Given the description of an element on the screen output the (x, y) to click on. 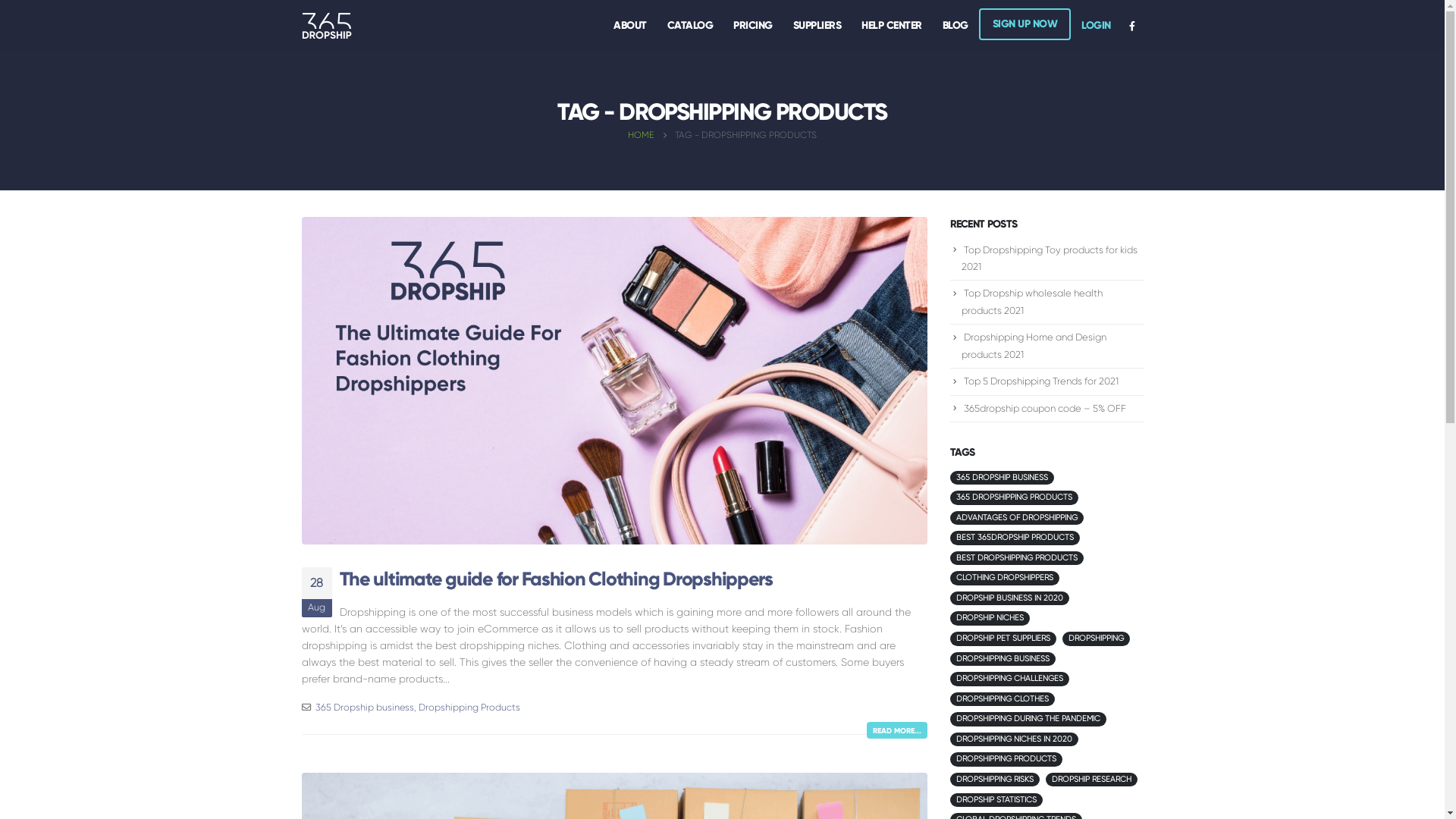
ABOUT Element type: text (629, 25)
The ultimate guide for Fashion Clothing Dropshippers Element type: text (555, 578)
DROPSHIPPING DURING THE PANDEMIC Element type: text (1027, 719)
DROPSHIP NICHES Element type: text (989, 618)
Top Dropship wholesale health products 2021 Element type: text (1031, 301)
Dropshipping Home and Design products 2021 Element type: text (1033, 345)
DROPSHIP RESEARCH Element type: text (1091, 779)
BLOG Element type: text (955, 25)
DROPSHIPPING NICHES IN 2020 Element type: text (1013, 739)
ADVANTAGES OF DROPSHIPPING Element type: text (1015, 518)
Top 5 Dropshipping Trends for 2021 Element type: text (1040, 380)
HELP CENTER Element type: text (891, 25)
CLOTHING DROPSHIPPERS Element type: text (1003, 578)
PRICING Element type: text (752, 25)
Facebook Element type: hover (1131, 25)
BEST DROPSHIPPING PRODUCTS Element type: text (1015, 558)
DROPSHIPPING BUSINESS Element type: text (1001, 659)
LOGIN Element type: text (1095, 25)
CATALOG Element type: text (689, 25)
DROPSHIPPING PRODUCTS Element type: text (1005, 759)
SIGN UP NOW Element type: text (1024, 24)
365 Dropship business Element type: text (364, 706)
DROPSHIP STATISTICS Element type: text (995, 800)
SUPPLIERS Element type: text (816, 25)
365 DROPSHIPPING PRODUCTS Element type: text (1013, 497)
DROPSHIP BUSINESS IN 2020 Element type: text (1008, 598)
HOME Element type: text (640, 134)
365 DROPSHIP BUSINESS Element type: text (1001, 477)
DROPSHIPPING CLOTHES Element type: text (1001, 699)
READ MORE... Element type: text (896, 729)
BEST 365DROPSHIP PRODUCTS Element type: text (1014, 537)
DROPSHIPPING RISKS Element type: text (993, 779)
DROPSHIPPING Element type: text (1095, 638)
DROPSHIPPING CHALLENGES Element type: text (1008, 678)
365Dropship - Worldwide Dropshipping Suppliers Element type: hover (326, 25)
Top Dropshipping Toy products for kids 2021 Element type: text (1049, 258)
DROPSHIP PET SUPPLIERS Element type: text (1002, 638)
Dropshipping Products Element type: text (469, 706)
